Given the description of an element on the screen output the (x, y) to click on. 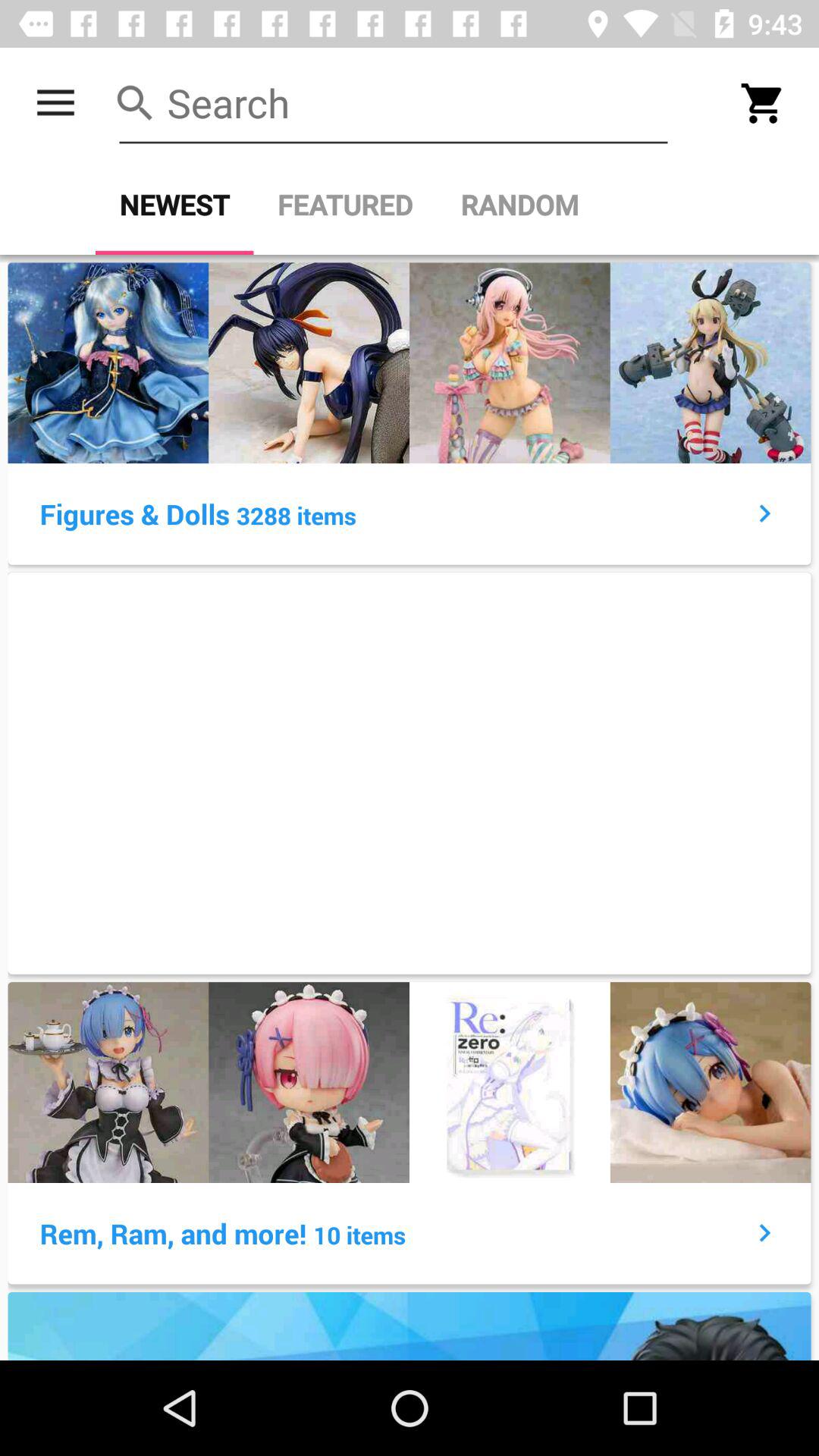
turn on item to the left of random icon (344, 204)
